Given the description of an element on the screen output the (x, y) to click on. 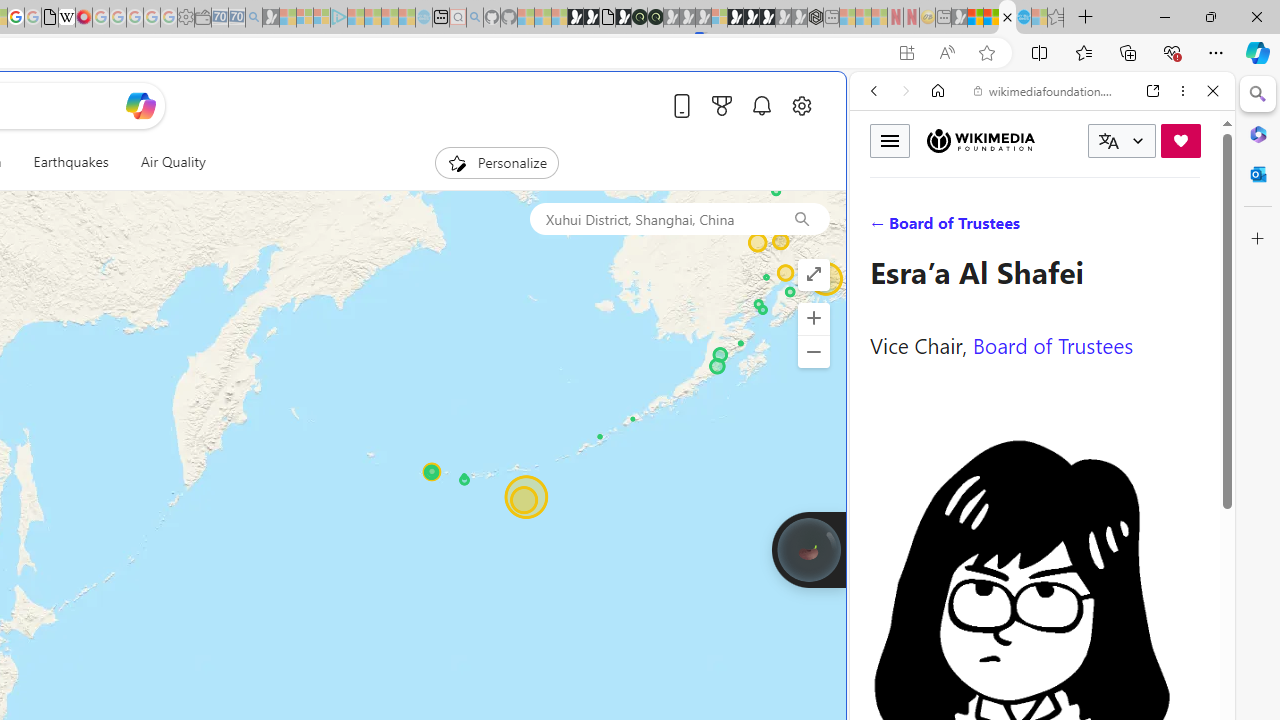
Bing Real Estate - Home sales and rental listings - Sleeping (253, 17)
This site scope (936, 180)
Frequently visited (418, 265)
New tab - Sleeping (943, 17)
Open Copilot (140, 105)
Web scope (882, 180)
Wiktionary (1034, 669)
